Given the description of an element on the screen output the (x, y) to click on. 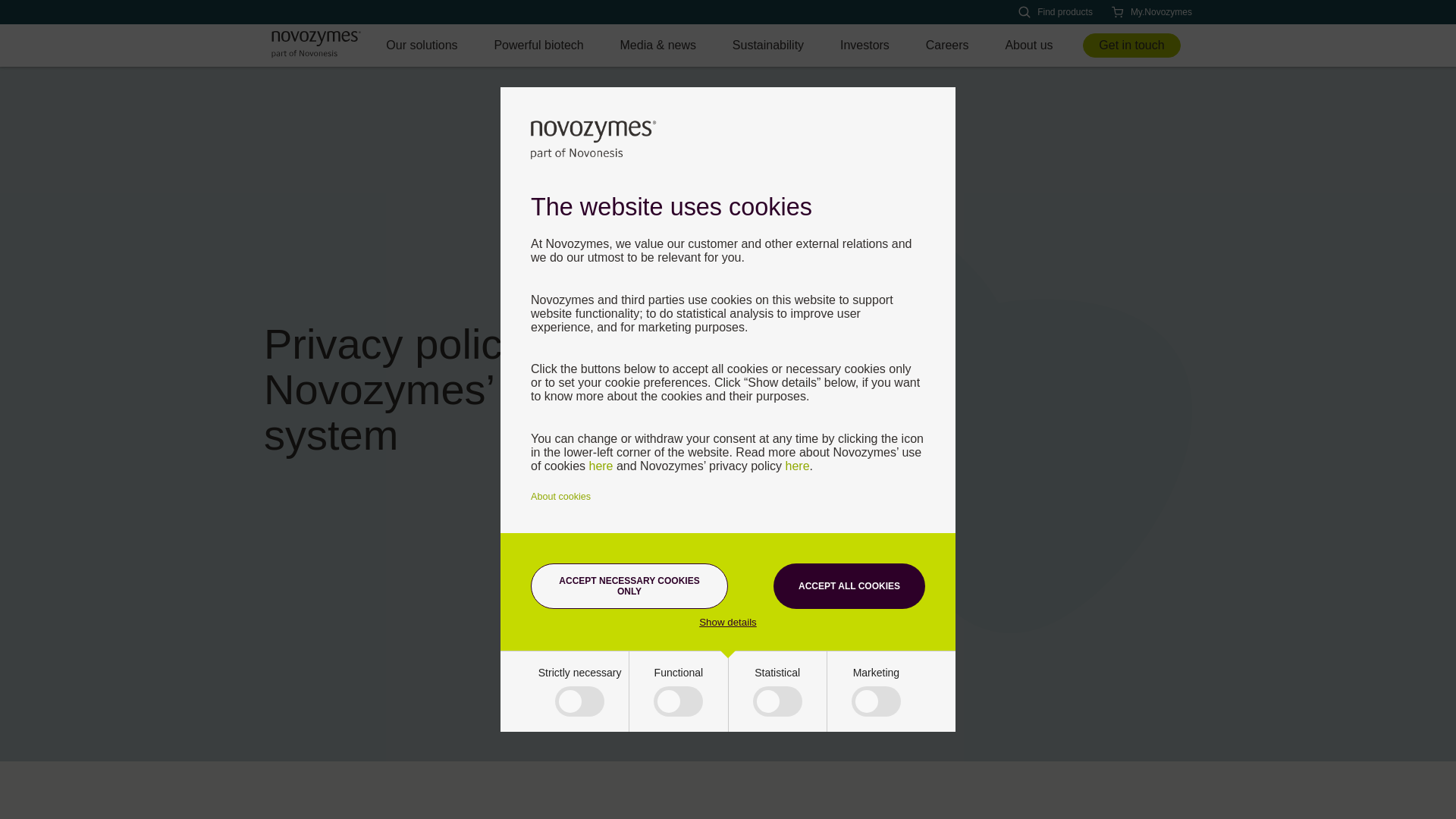
ACCEPT ALL COOKIES (848, 586)
ACCEPT NECESSARY COOKIES ONLY (629, 586)
here (600, 465)
Show details (727, 622)
About cookies (561, 496)
here (797, 465)
